Given the description of an element on the screen output the (x, y) to click on. 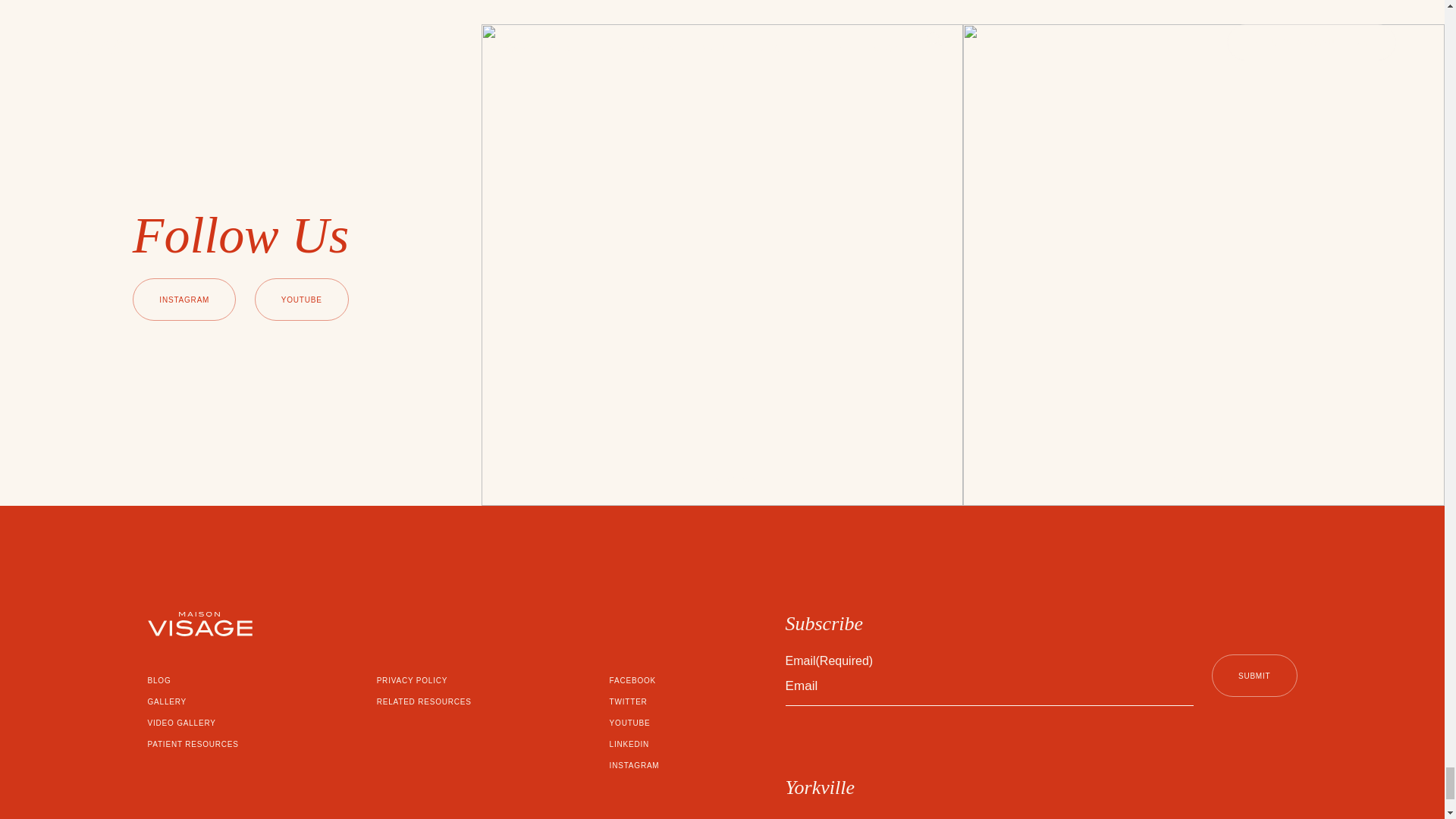
Submit (1254, 675)
